Given the description of an element on the screen output the (x, y) to click on. 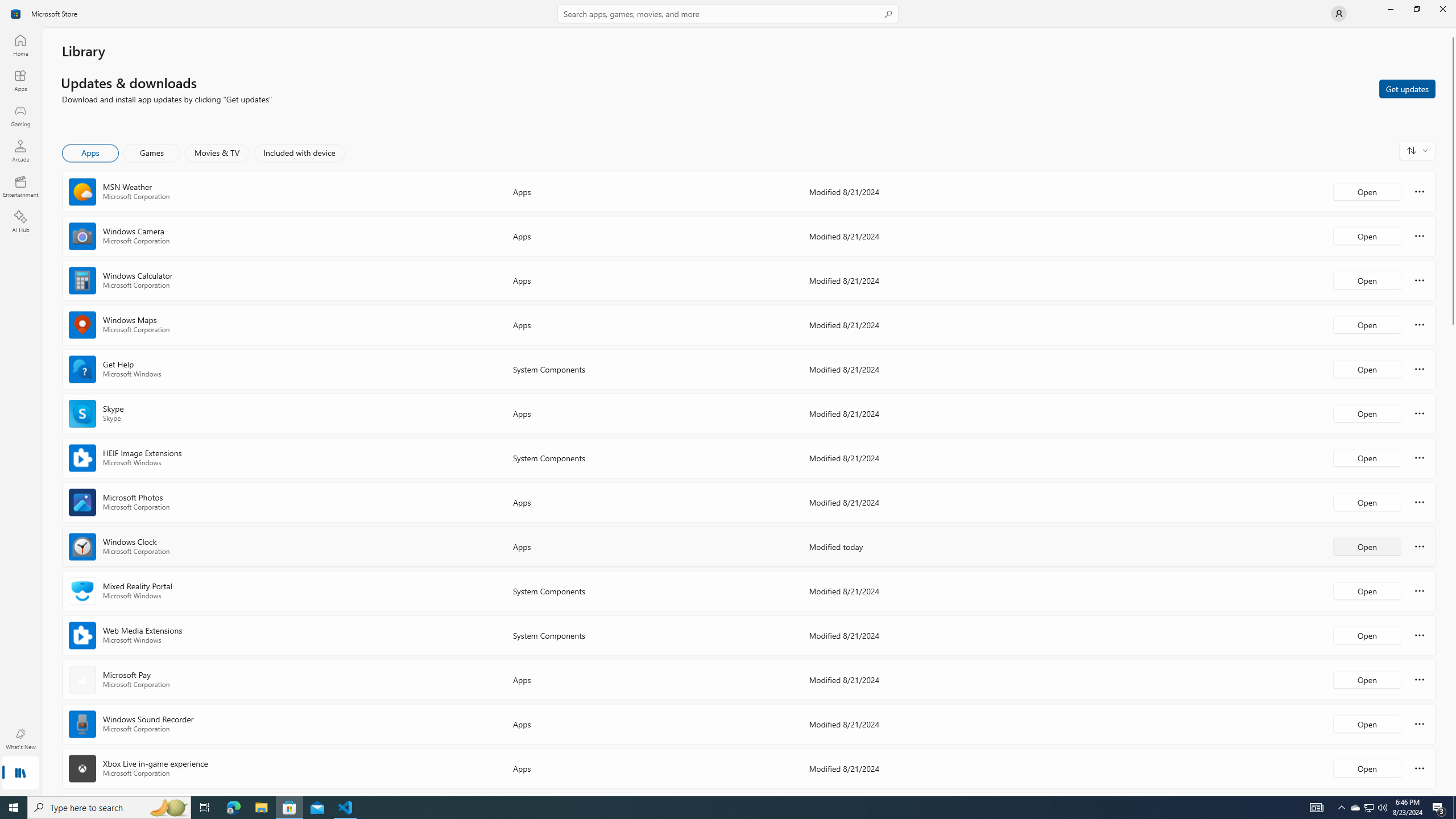
Entertainment (20, 185)
Apps (90, 153)
What's New (20, 738)
Search (727, 13)
Close Microsoft Store (1442, 9)
User profile (1338, 13)
More options (1419, 768)
Arcade (20, 150)
Games (151, 153)
Open (1366, 768)
Apps (20, 80)
Movies & TV (216, 153)
AI Hub (20, 221)
Vertical (1452, 412)
Library (20, 773)
